Given the description of an element on the screen output the (x, y) to click on. 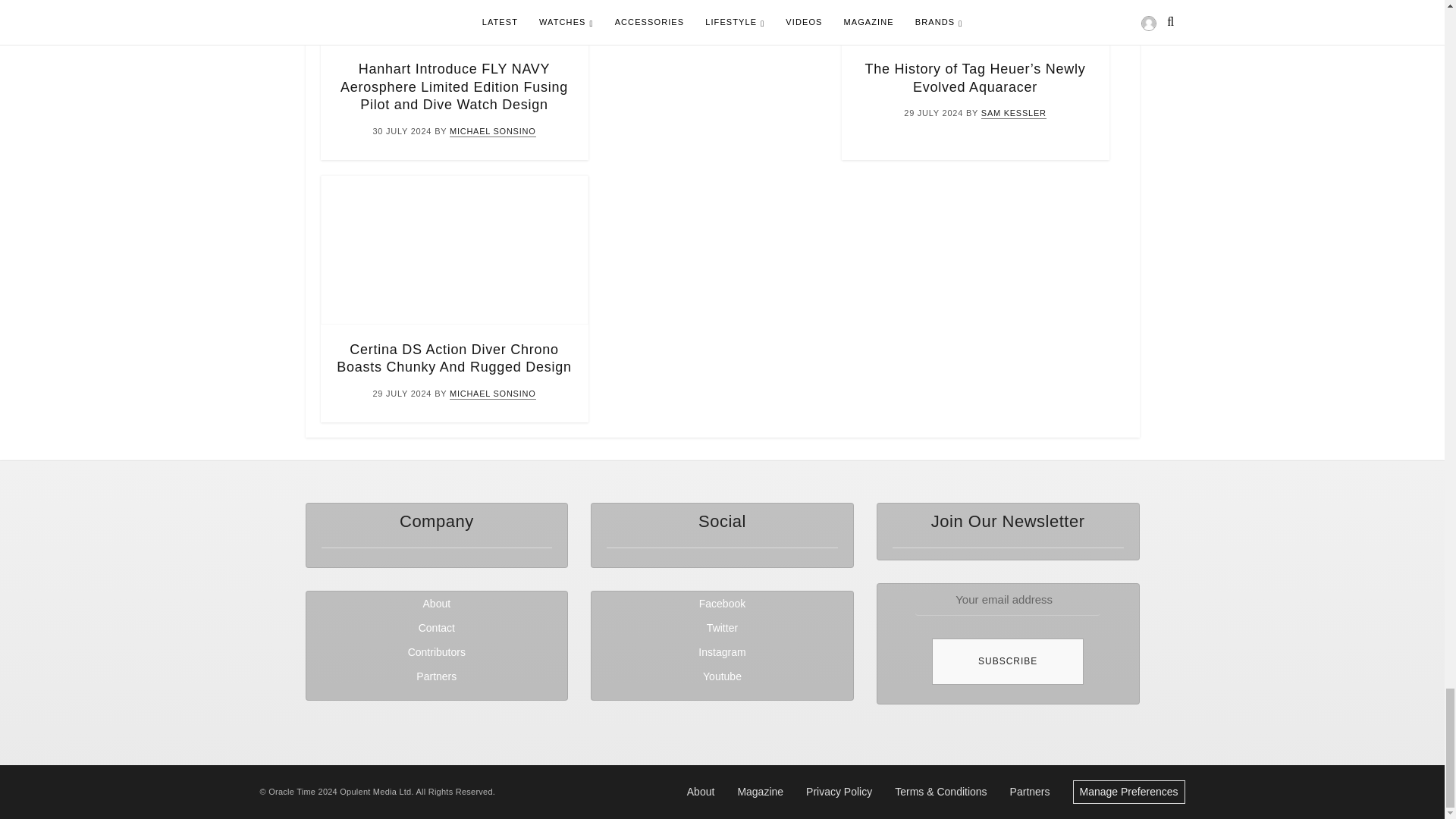
Subscribe (1007, 661)
